Given the description of an element on the screen output the (x, y) to click on. 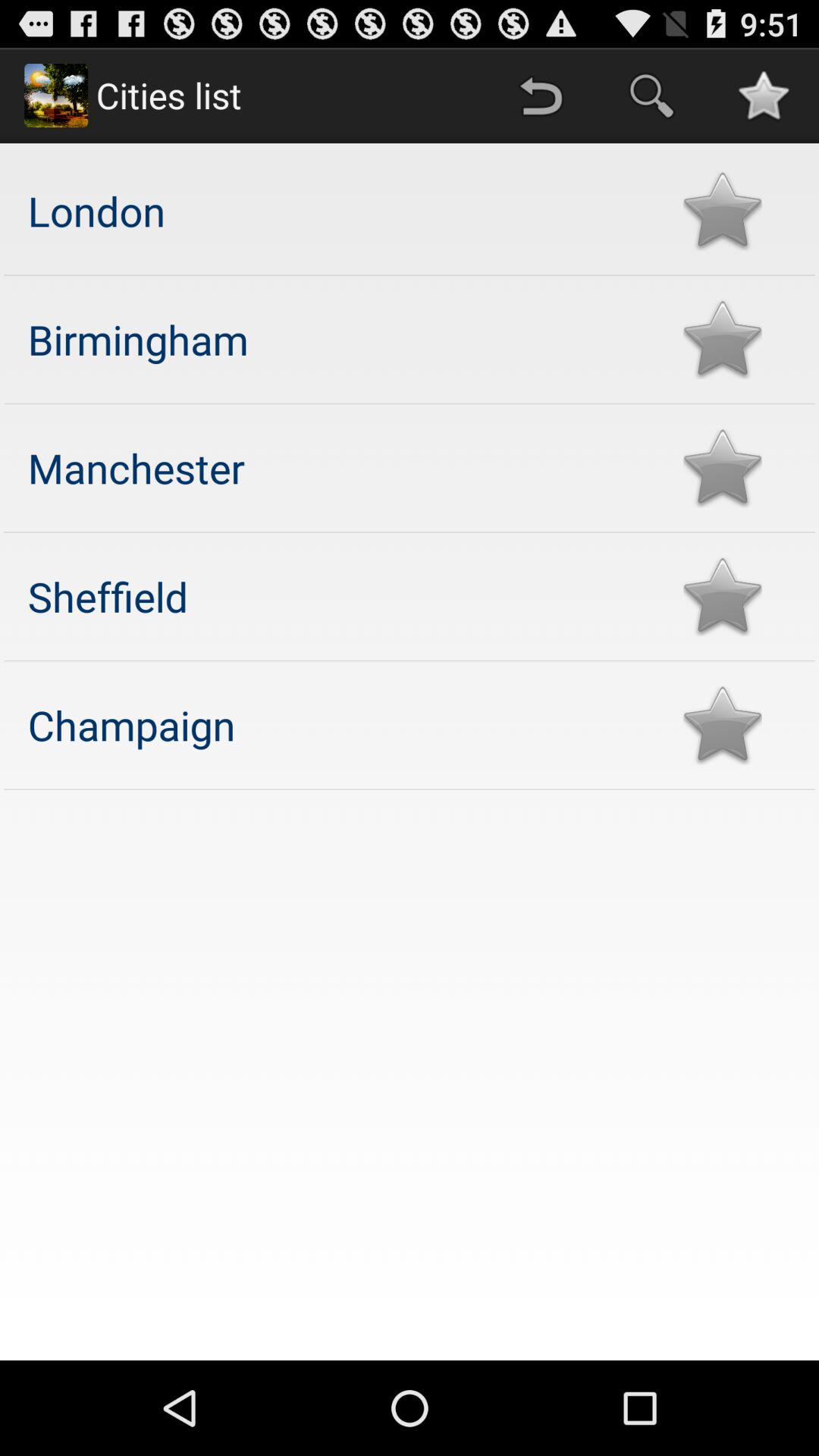
go to added (722, 724)
